Given the description of an element on the screen output the (x, y) to click on. 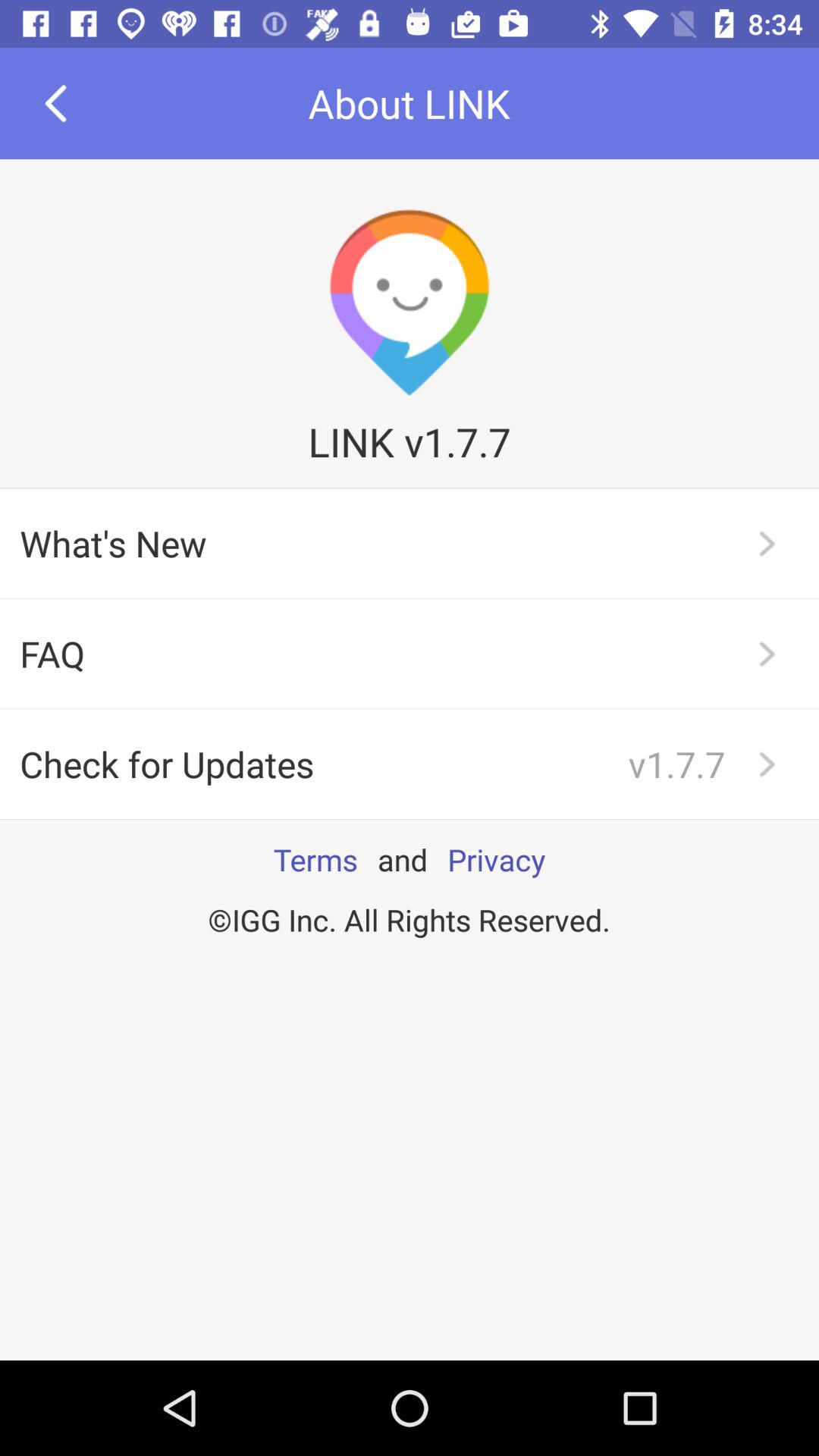
open app above the igg inc all icon (496, 859)
